Given the description of an element on the screen output the (x, y) to click on. 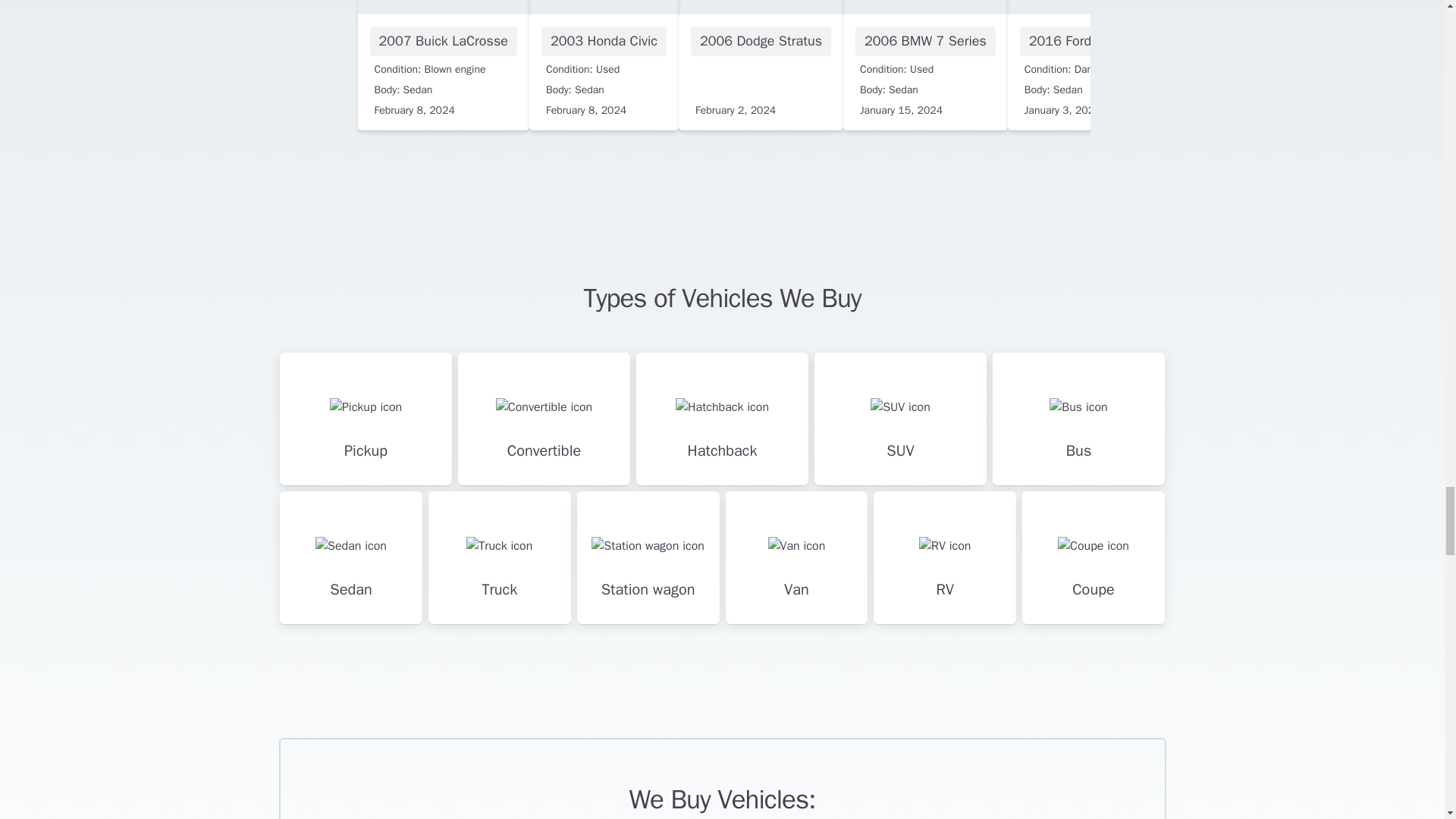
2006 Dodge Stratus (760, 65)
2006 BMW 7 Series (925, 65)
2003 Honda Civic (603, 65)
2007 Buick LaCrosse (443, 65)
2016 Ford Focus (1079, 65)
